Given the description of an element on the screen output the (x, y) to click on. 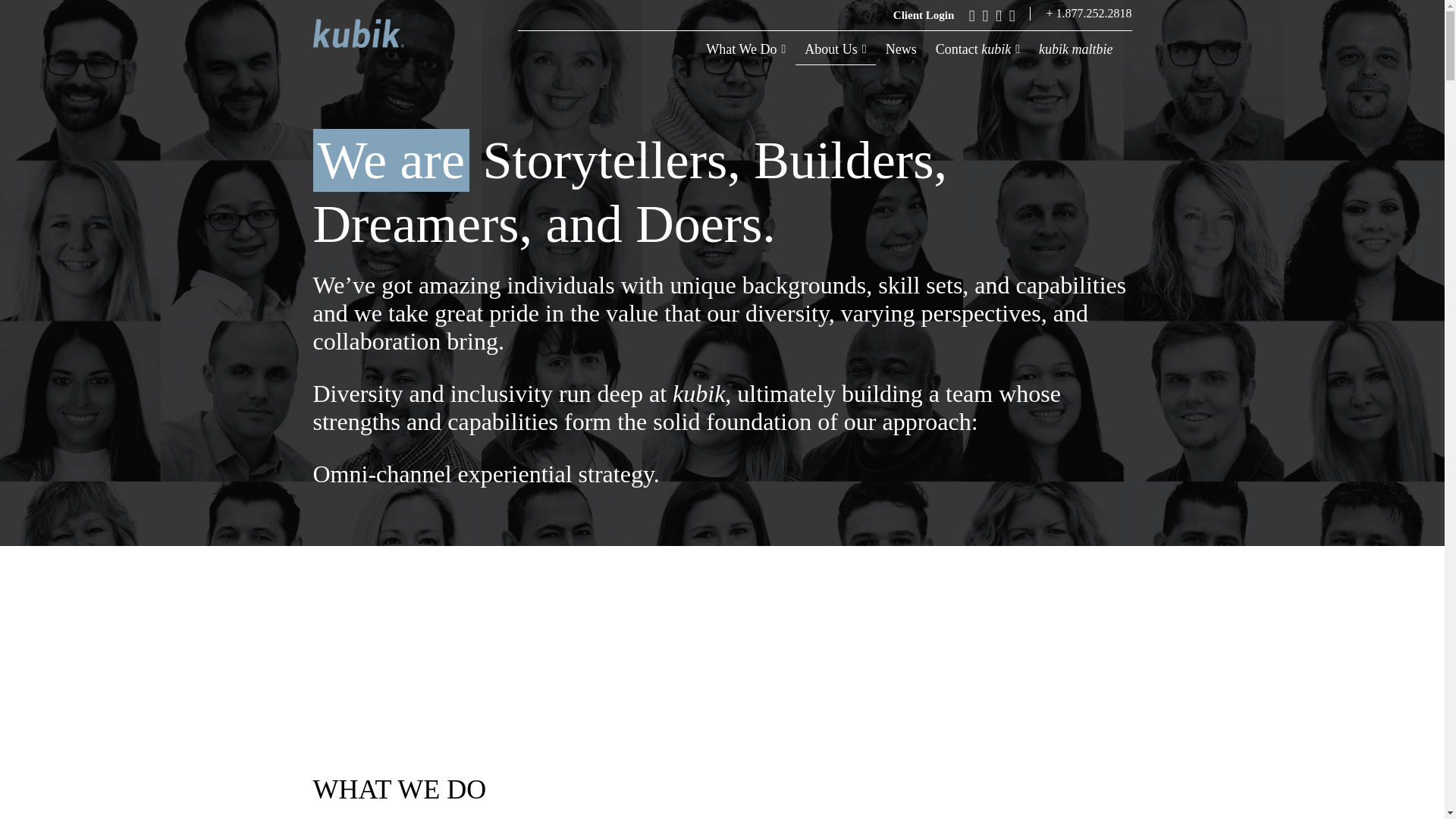
About Us (835, 58)
What We Do (746, 58)
kubik maltbie (1075, 58)
Client Login (923, 15)
News (901, 58)
Contact kubik (978, 58)
